Given the description of an element on the screen output the (x, y) to click on. 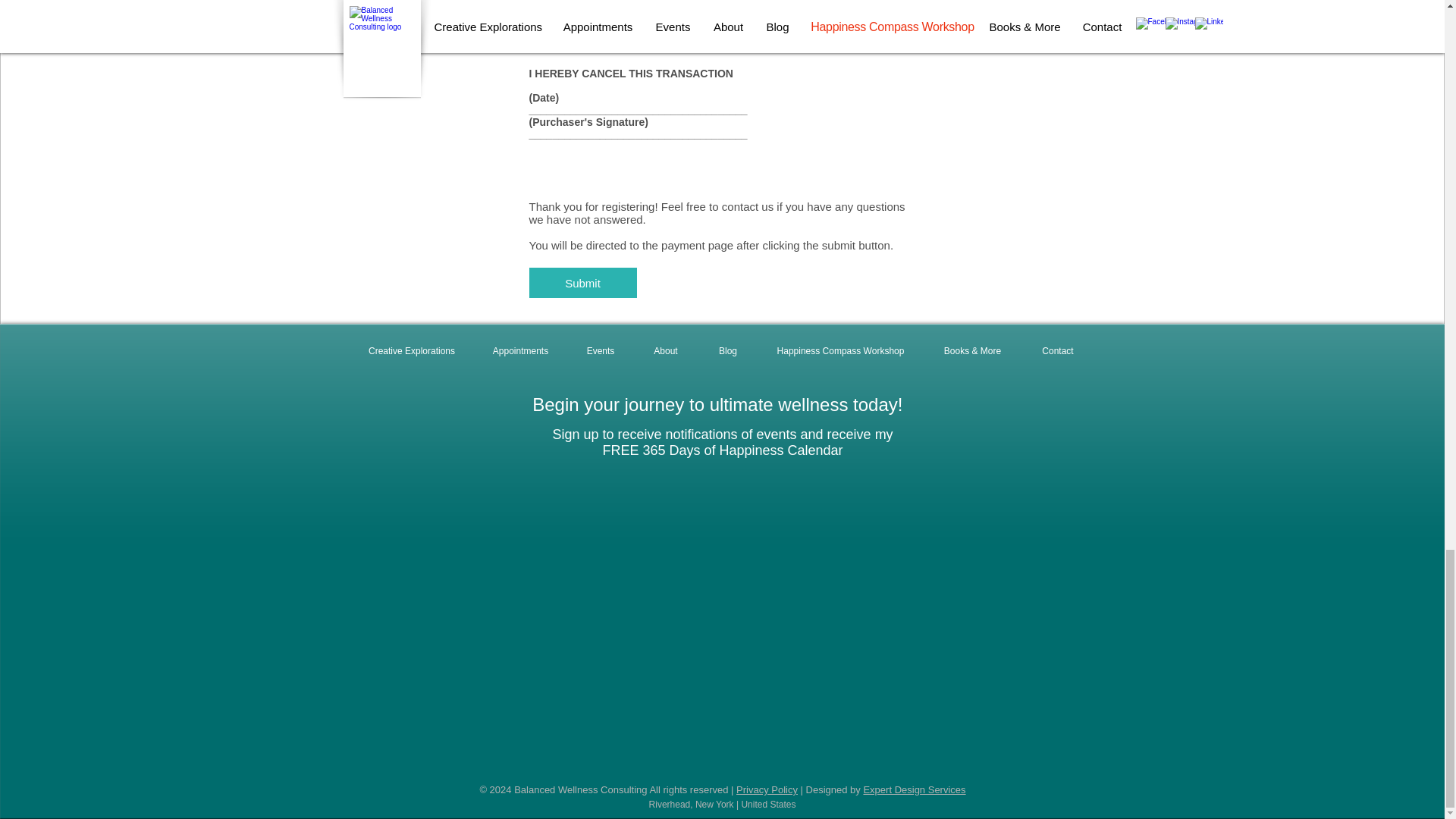
Blog (727, 351)
Submit (583, 282)
Facebook Like (720, 762)
Creative Explorations (410, 351)
About (664, 351)
Events (599, 351)
Appointments (520, 351)
